Given the description of an element on the screen output the (x, y) to click on. 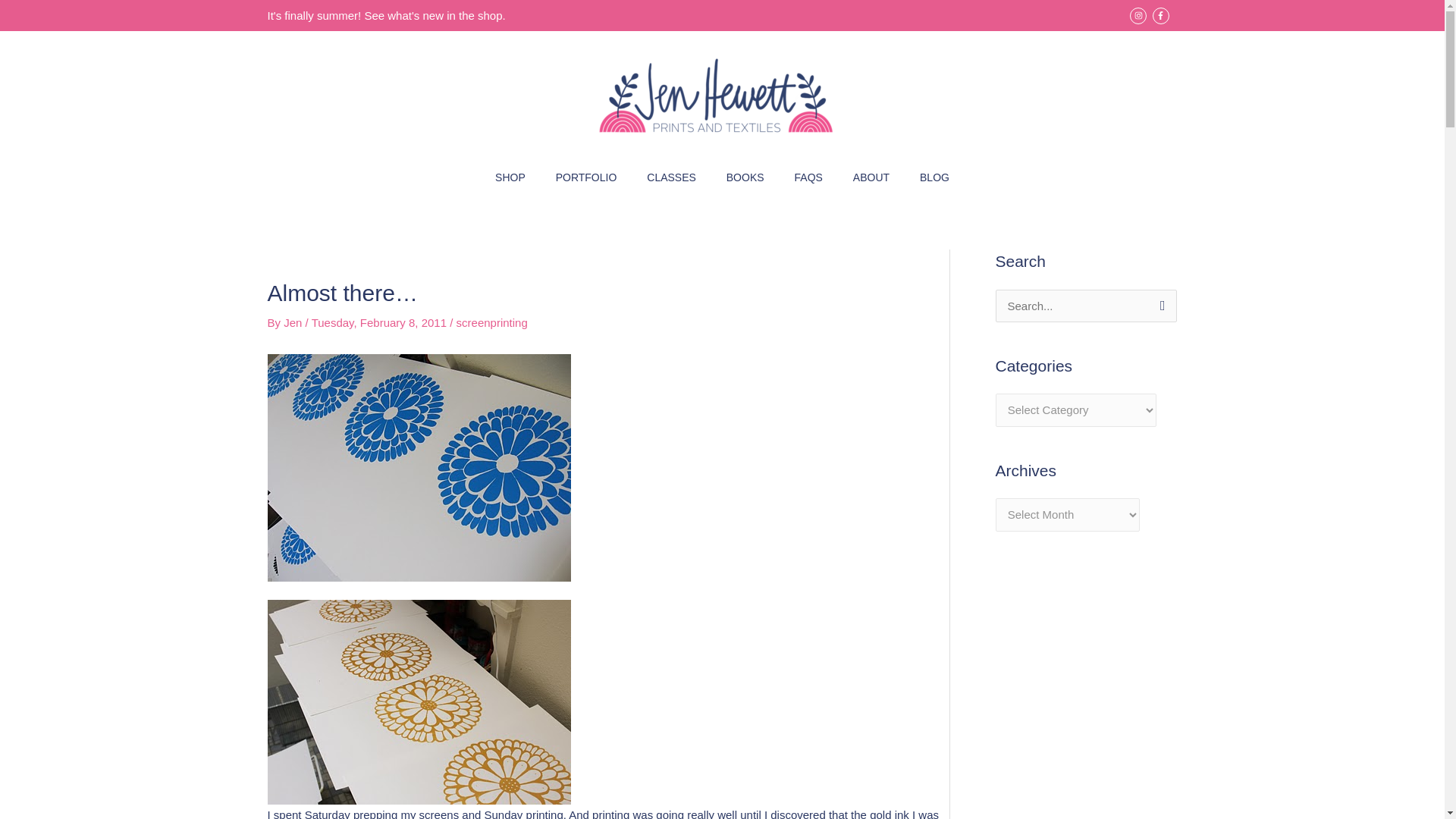
PORTFOLIO (585, 177)
BOOKS (744, 177)
View all posts by Jen (293, 322)
ABOUT (871, 177)
Jen (293, 322)
FAQS (808, 177)
Search (1158, 305)
Search (1158, 305)
SHOP (510, 177)
screenprinting (492, 322)
BLOG (933, 177)
CLASSES (671, 177)
